Given the description of an element on the screen output the (x, y) to click on. 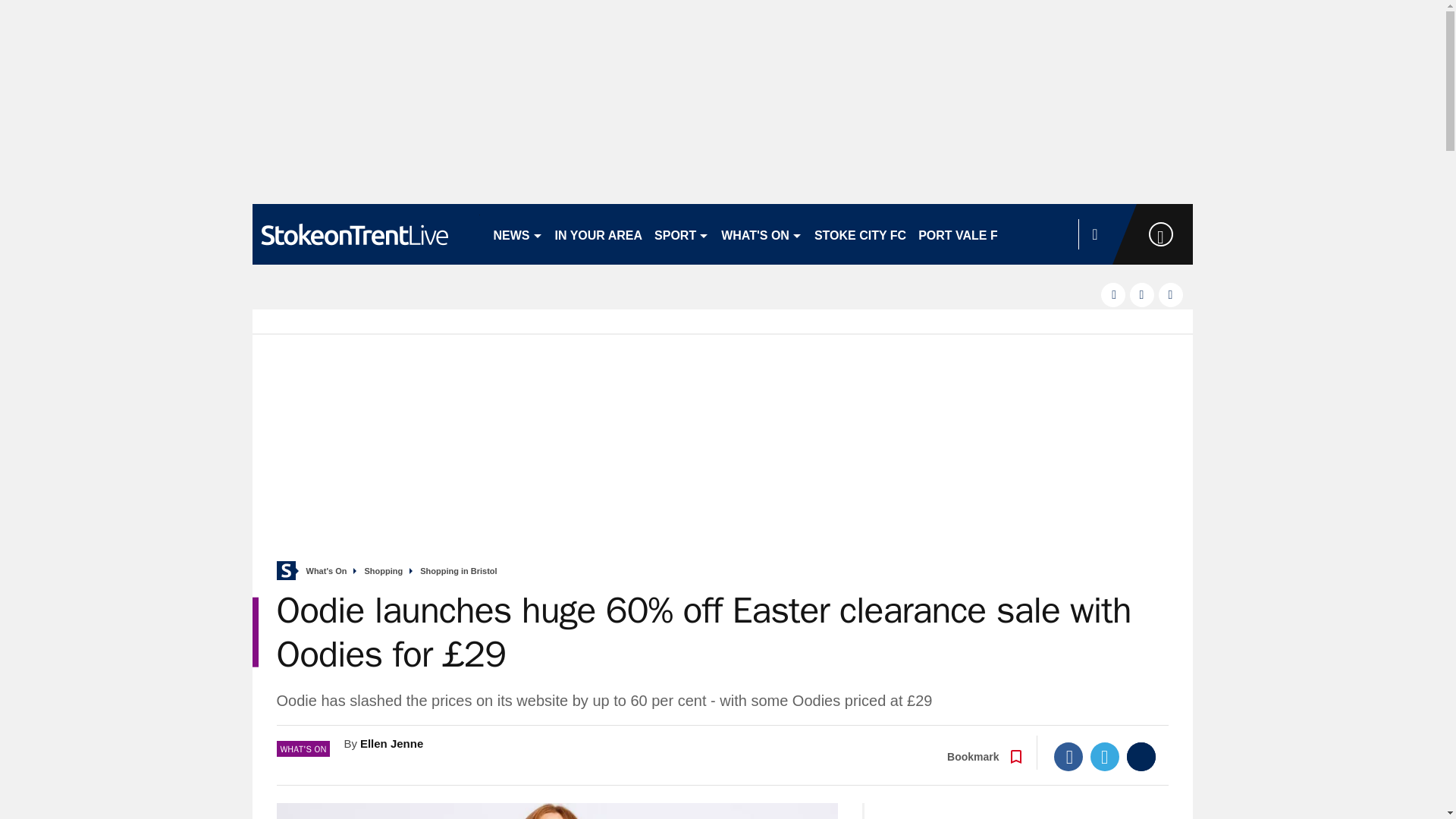
SPORT (680, 233)
instagram (1170, 294)
IN YOUR AREA (598, 233)
Twitter (1104, 756)
STOKE CITY FC (860, 233)
stokesentinel (365, 233)
NEWS (517, 233)
Facebook (1068, 756)
WHAT'S ON (761, 233)
twitter (1141, 294)
PORT VALE FC (961, 233)
facebook (1112, 294)
